Given the description of an element on the screen output the (x, y) to click on. 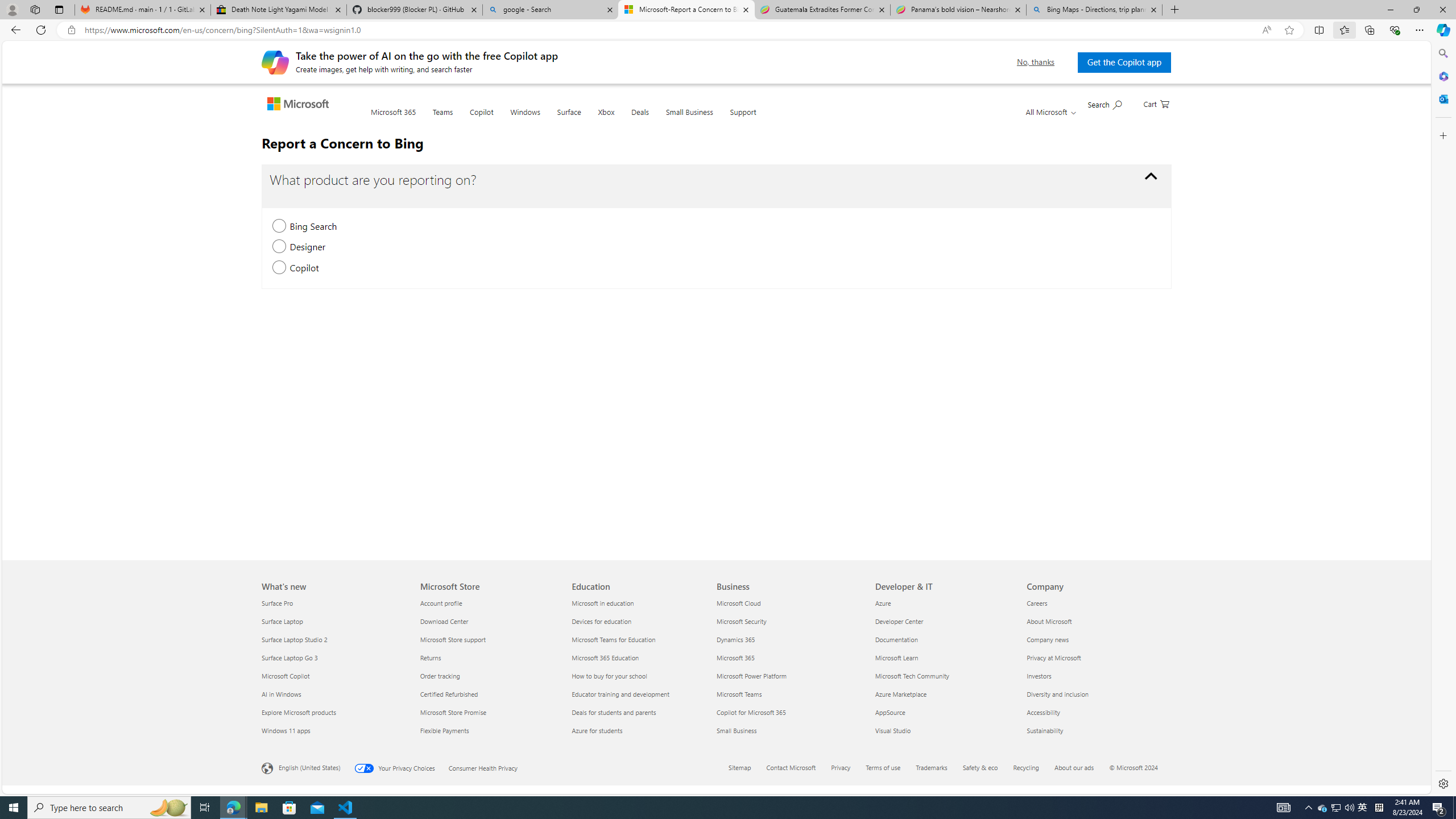
Microsoft Store support (489, 638)
Download Center Microsoft Store (443, 620)
Windows 11 apps What's new (286, 729)
Company news (1095, 638)
Search Microsoft.com (1103, 103)
Azure Developer & IT (883, 602)
Recycling (1032, 768)
Devices for education Education (601, 620)
Order tracking Microsoft Store (439, 675)
Certified Refurbished (489, 693)
Copilot for Microsoft 365 (788, 711)
Windows (525, 118)
Search (1442, 53)
